Given the description of an element on the screen output the (x, y) to click on. 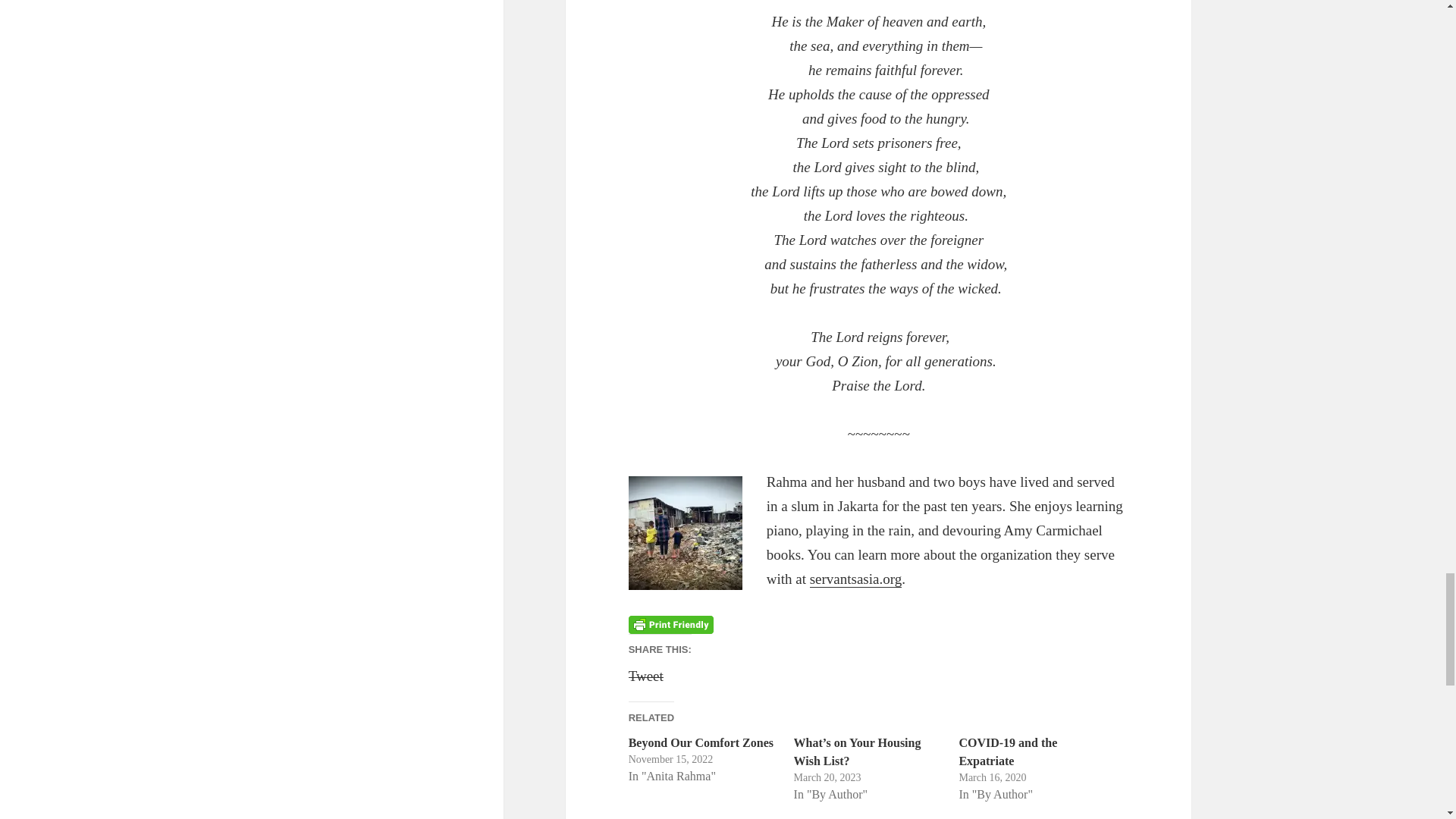
Tweet (645, 671)
COVID-19 and the Expatriate (1007, 751)
Beyond Our Comfort Zones (700, 742)
COVID-19 and the Expatriate (1007, 751)
Beyond Our Comfort Zones (700, 742)
servantsasia.org (855, 579)
